Given the description of an element on the screen output the (x, y) to click on. 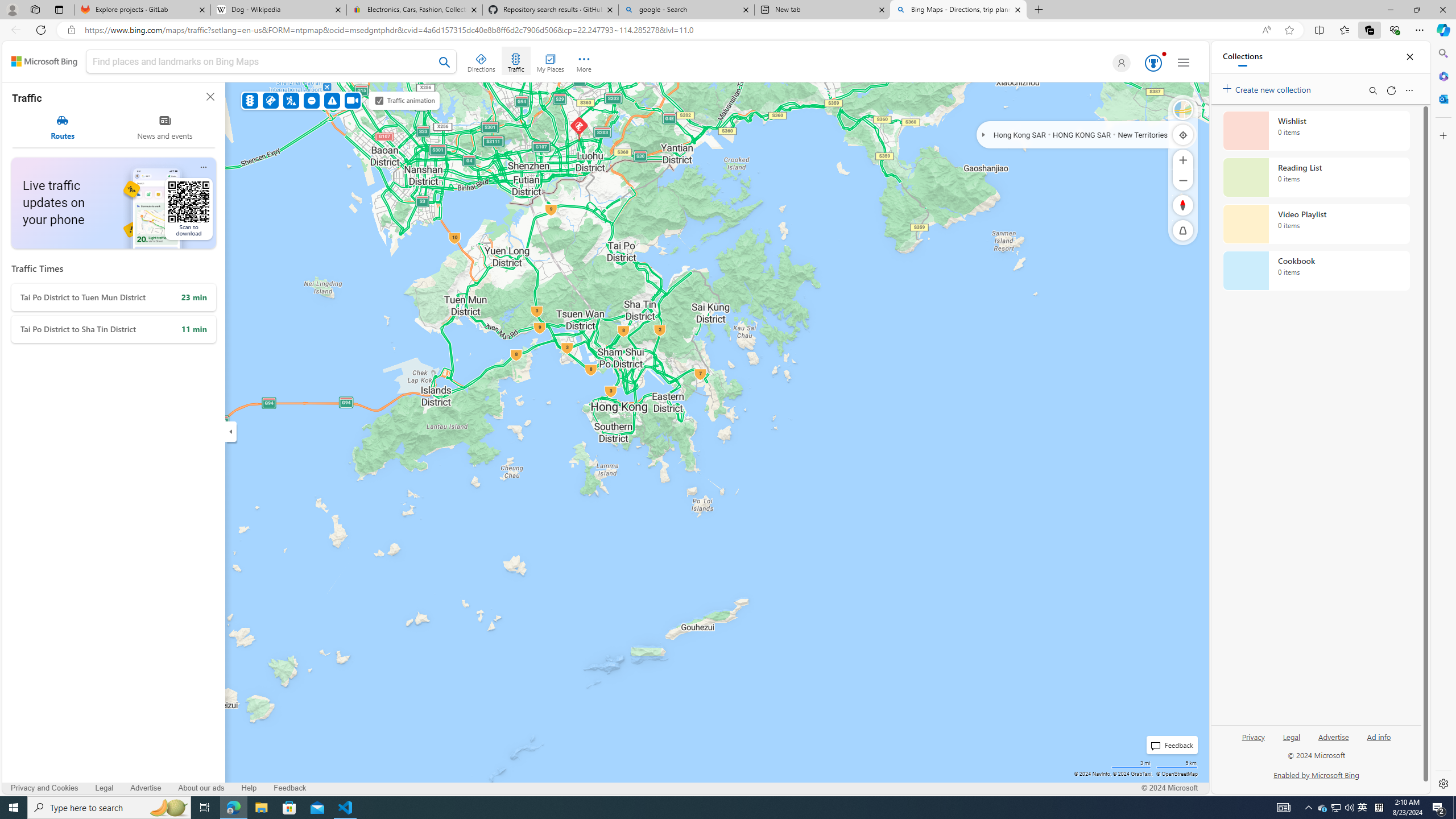
Construction (290, 100)
Back to Bing search (44, 60)
Reset to Default Pitch (1182, 230)
Reset to Default Rotation (1182, 204)
